Given the description of an element on the screen output the (x, y) to click on. 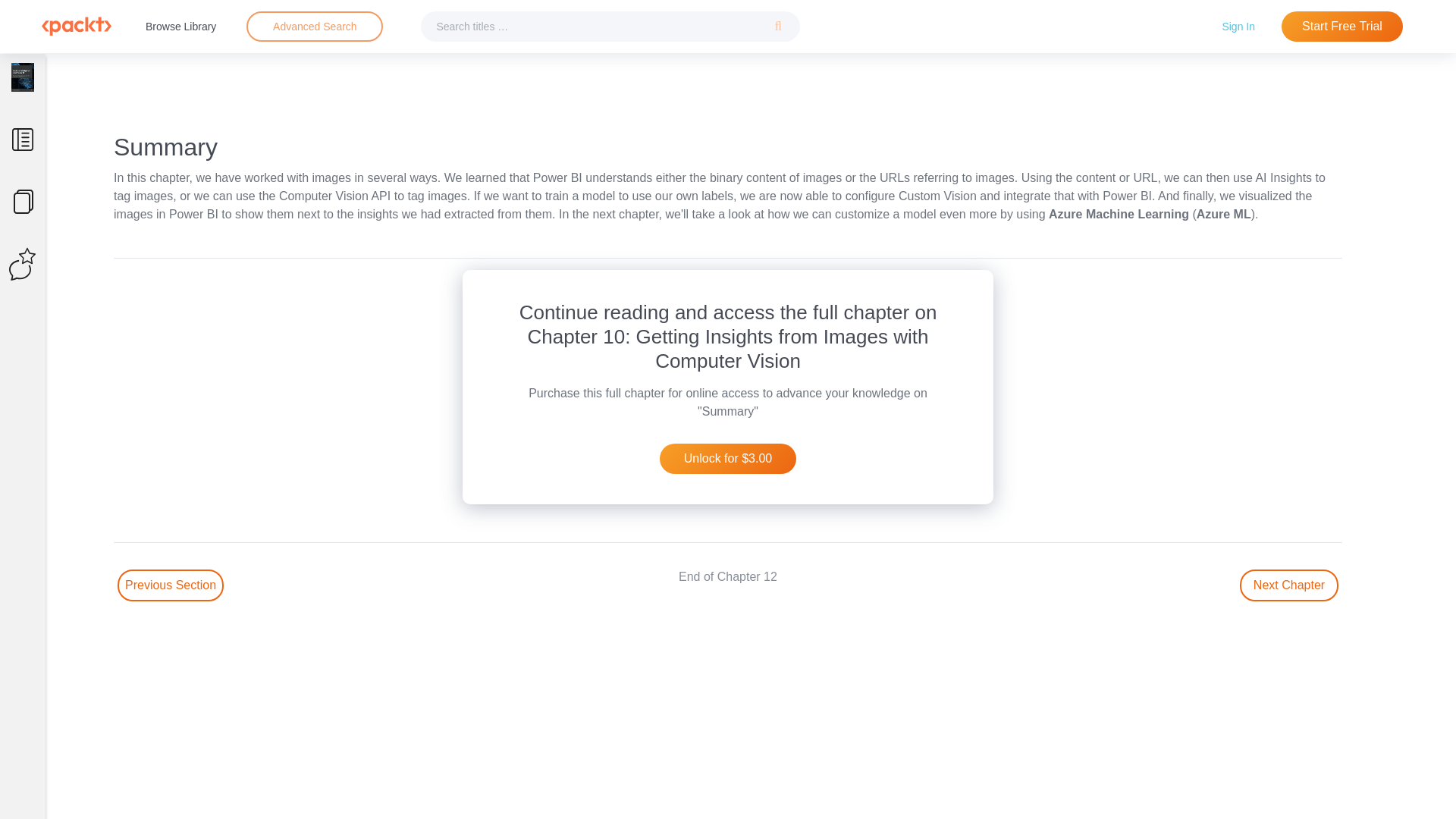
Advanced search (314, 26)
Browse Library (180, 26)
Sign In (1238, 26)
Start Free Trial (1342, 26)
Advanced Search (314, 26)
Go to next section (1289, 585)
Go to Previous section (170, 585)
Advanced Search (315, 26)
